Given the description of an element on the screen output the (x, y) to click on. 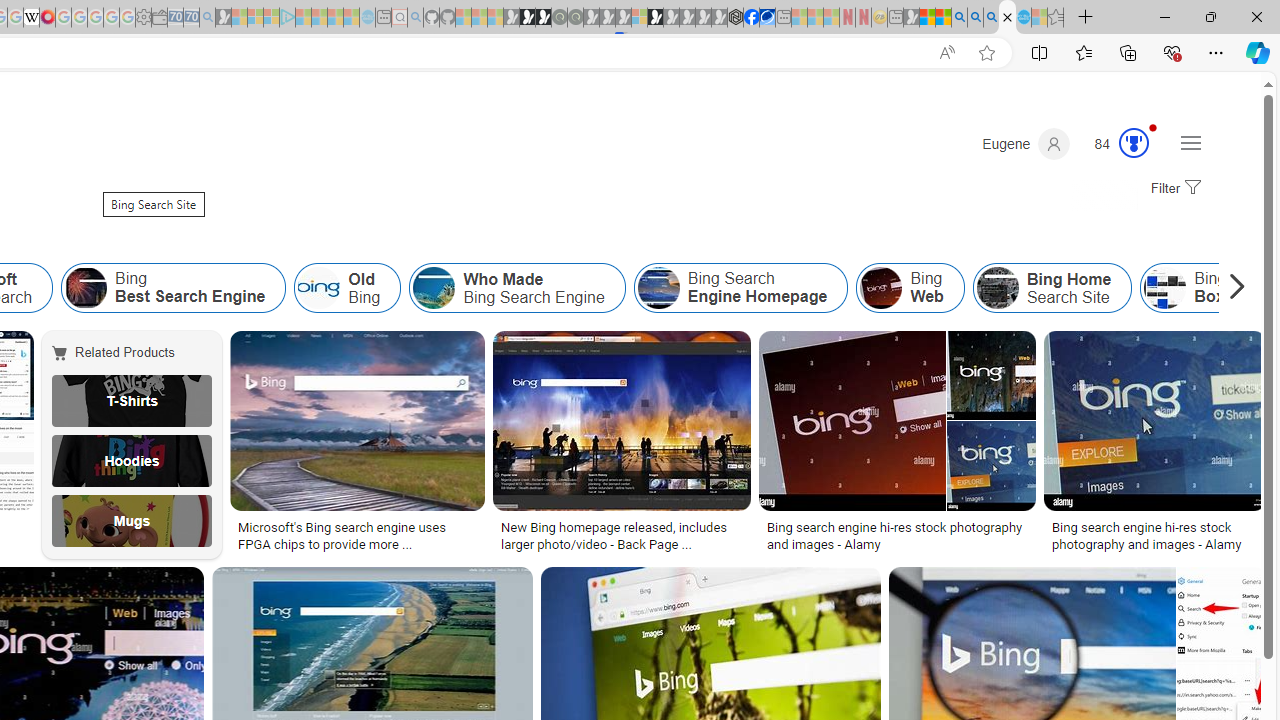
Target page - Wikipedia (31, 17)
Old Bing (319, 287)
Favorites - Sleeping (1055, 17)
Bing Web (881, 287)
T-Shirts (132, 400)
Services - Maintenance | Sky Blue Bikes - Sky Blue Bikes (1023, 17)
